Given the description of an element on the screen output the (x, y) to click on. 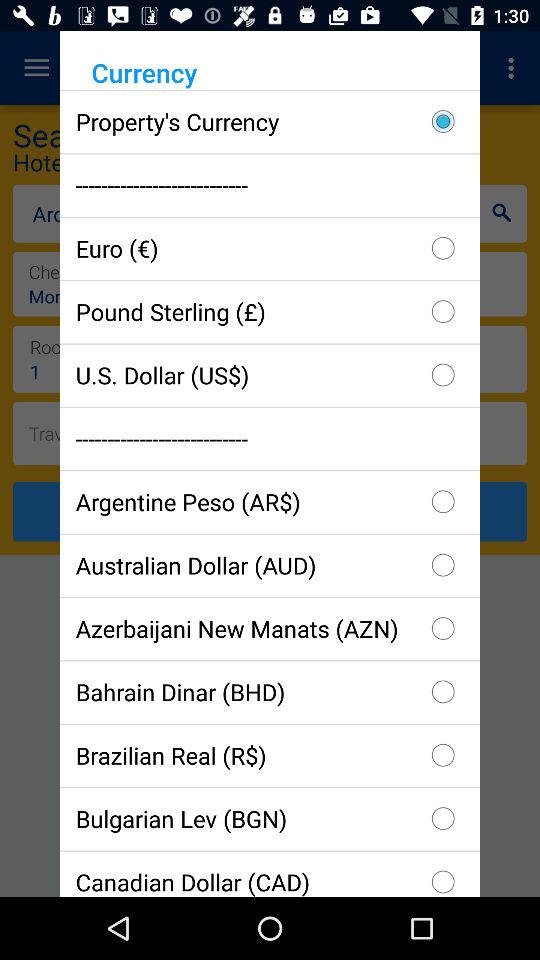
choose the azerbaijani new manats icon (270, 628)
